Given the description of an element on the screen output the (x, y) to click on. 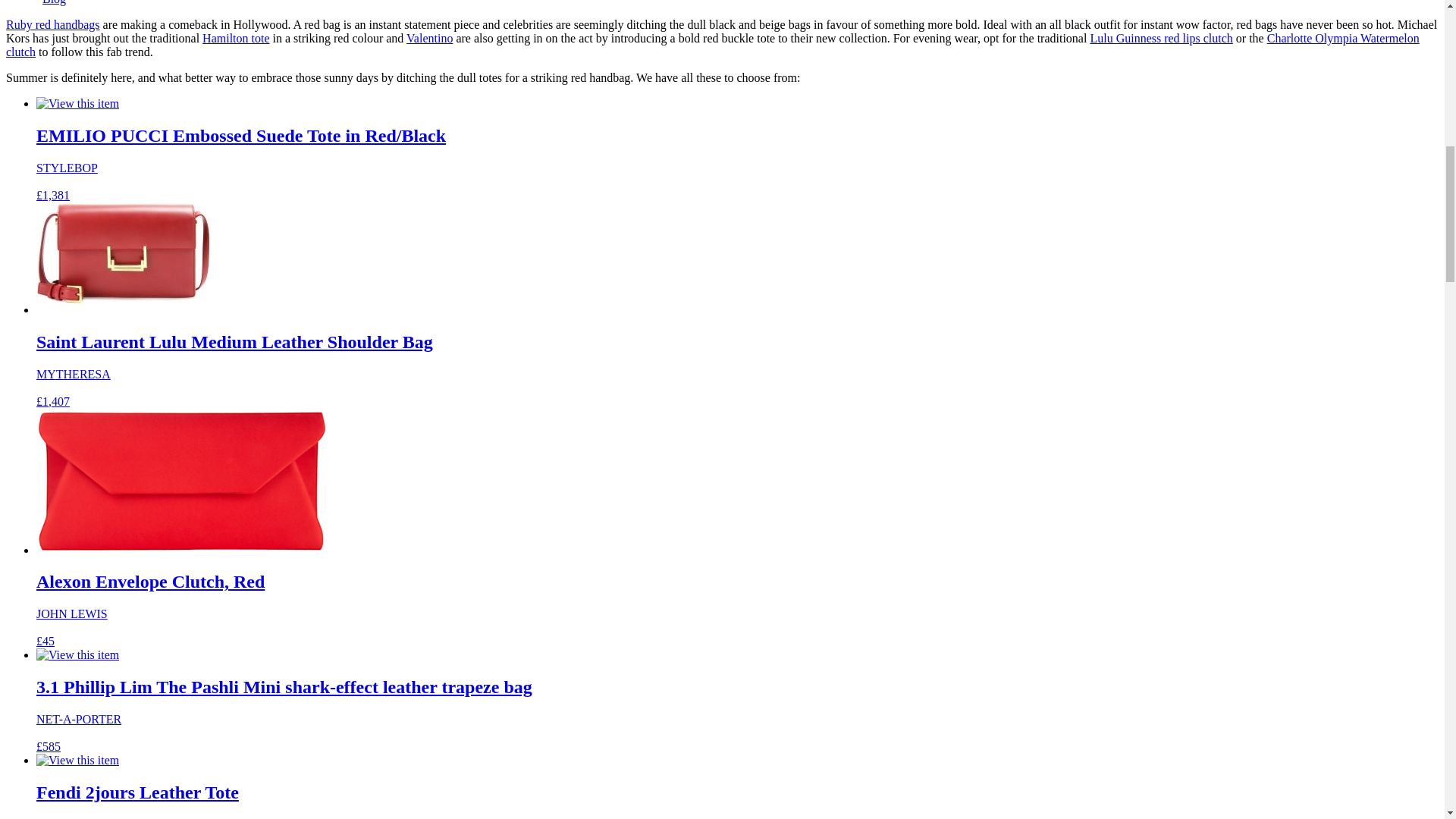
View this item (77, 654)
View this item (123, 257)
View this item (77, 760)
View this item (77, 103)
View this item (181, 481)
